Given the description of an element on the screen output the (x, y) to click on. 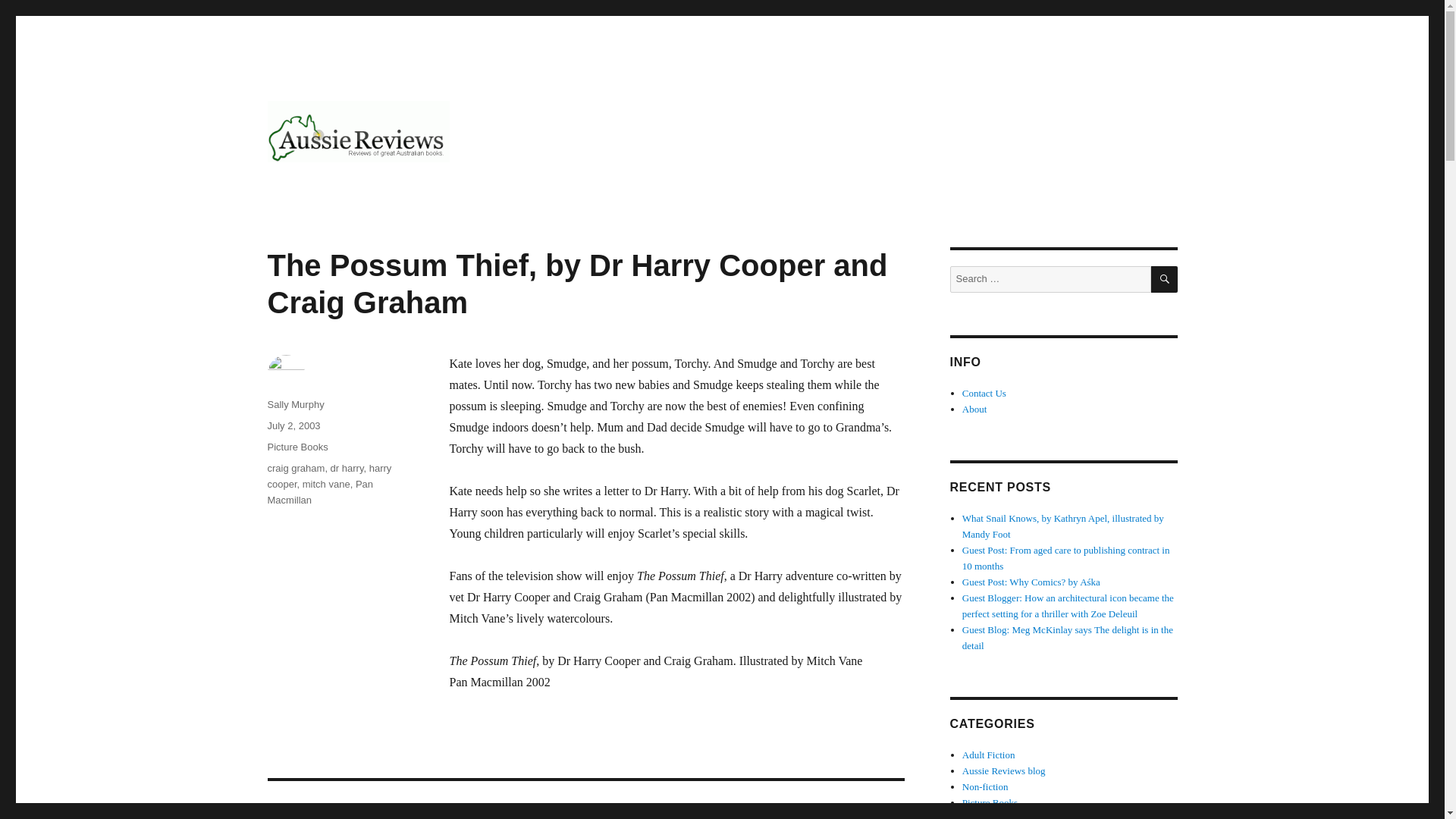
SEARCH (1164, 279)
harry cooper (328, 475)
Aussie Reviews (347, 186)
Contact Us (984, 392)
Guest Blog: Meg McKinlay says The delight is in the detail (1067, 637)
Picture Books (585, 800)
Adult Fiction (296, 446)
dr harry (988, 754)
What Snail Knows, by Kathryn Apel, illustrated by Mandy Foot (347, 468)
About (1062, 525)
Uncategorised (974, 408)
July 2, 2003 (990, 816)
mitch vane (293, 425)
